Given the description of an element on the screen output the (x, y) to click on. 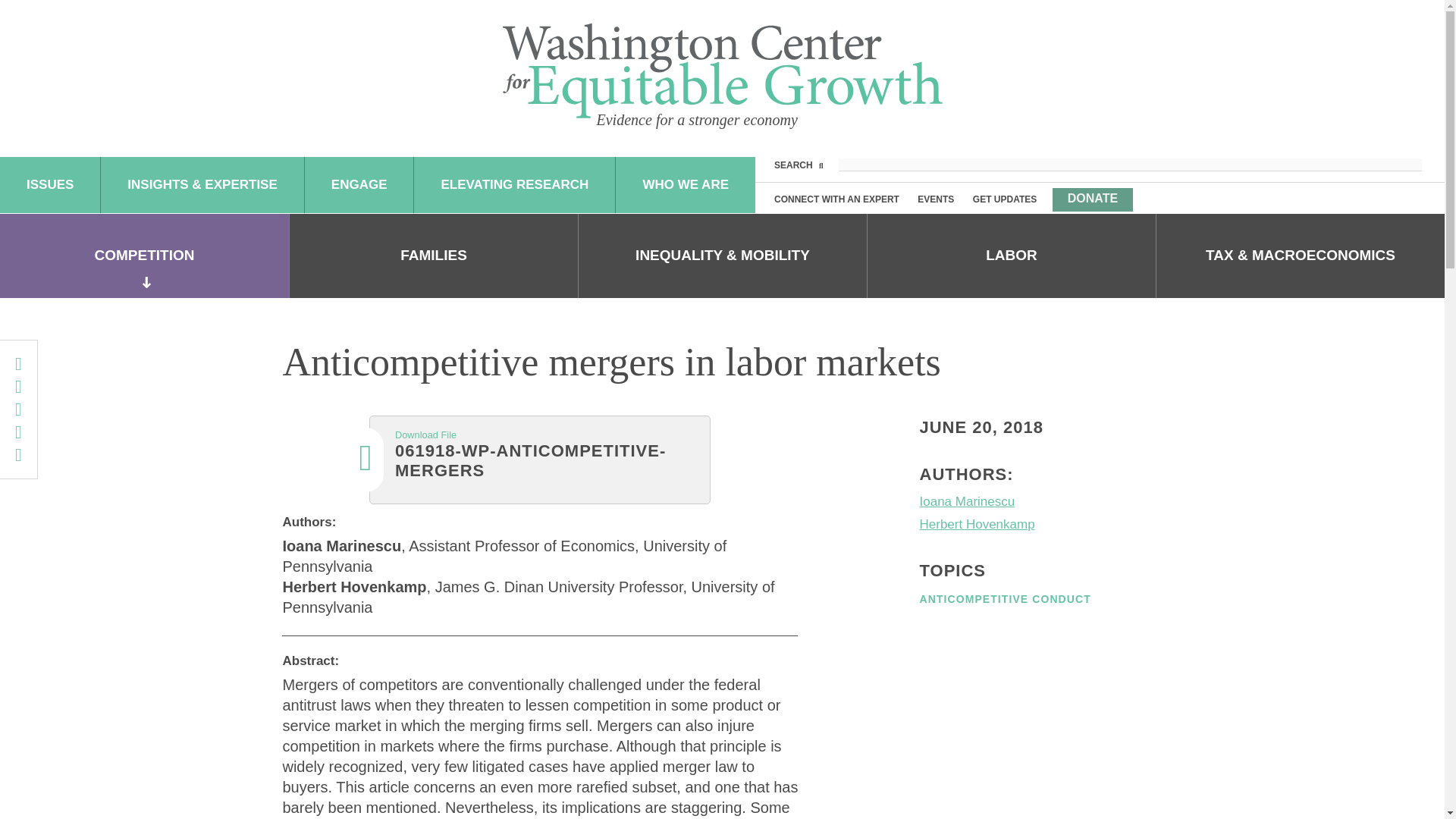
Anticompetitive Conduct (1004, 598)
Search for: (1130, 164)
ISSUES (50, 184)
Herbert Hovenkamp (1039, 524)
Ioana Marinescu (1039, 501)
